Given the description of an element on the screen output the (x, y) to click on. 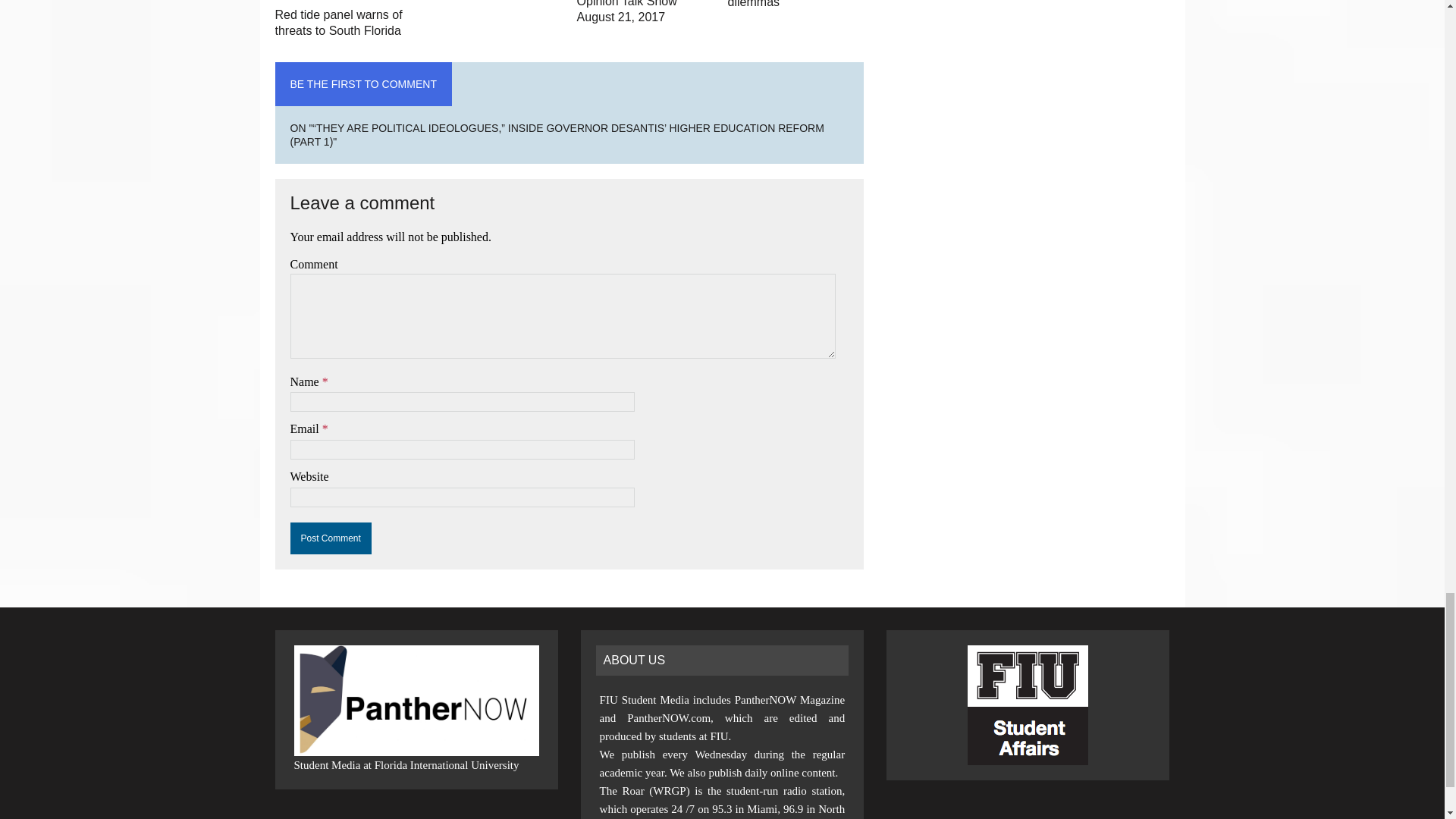
SASC construction leads to more parking dilemmas (794, 4)
Red tide panel warns of threats to South Florida (338, 22)
Post Comment (330, 538)
